Given the description of an element on the screen output the (x, y) to click on. 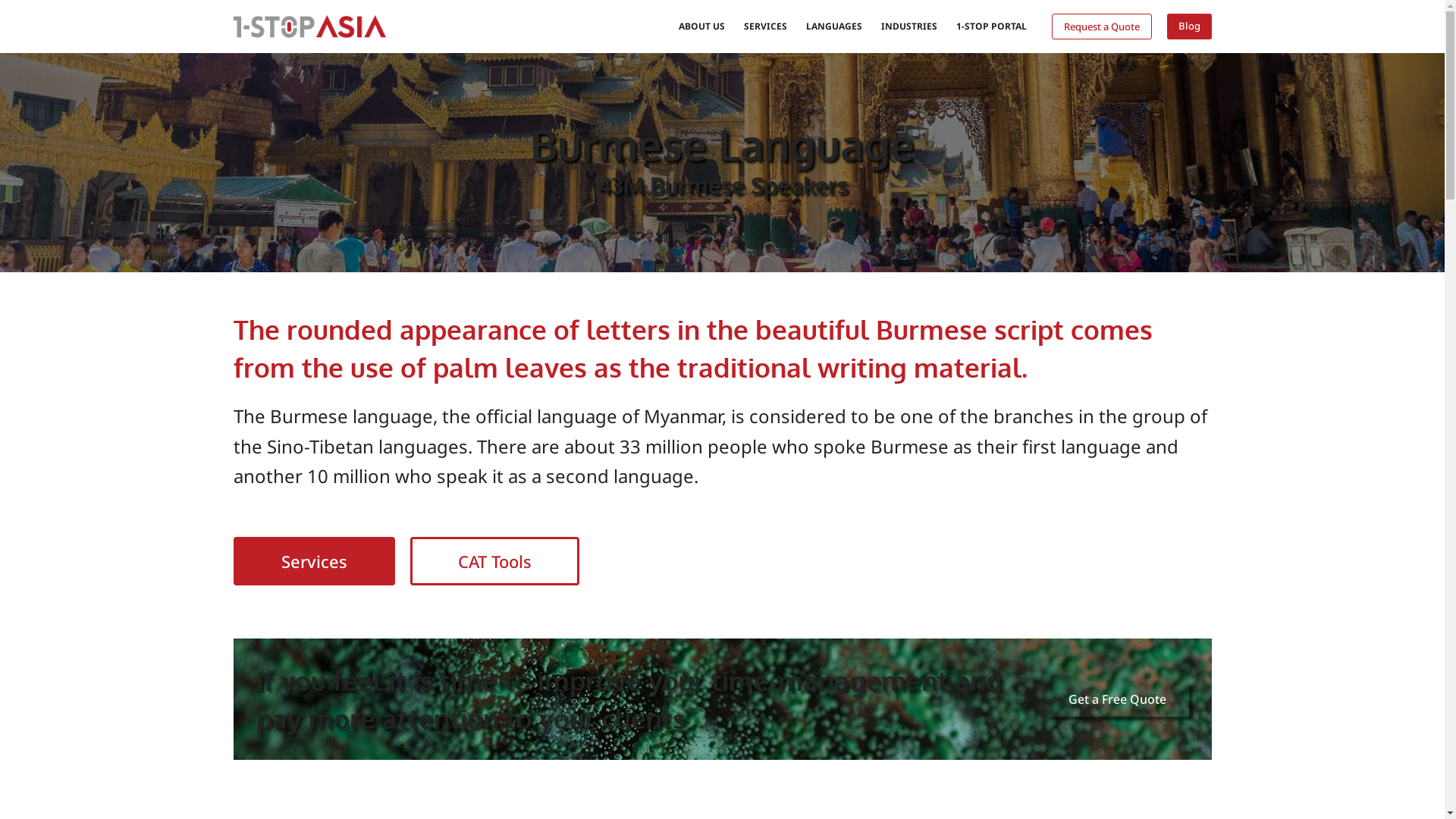
Get a Free Quote Element type: text (1116, 698)
ABOUT US Element type: text (701, 26)
Blog Element type: text (1188, 26)
LANGUAGES Element type: text (833, 26)
Request a Quote Element type: text (1101, 26)
SERVICES Element type: text (765, 26)
CAT Tools Element type: text (493, 560)
Skip to content Element type: text (15, 7)
Services Element type: text (314, 560)
INDUSTRIES Element type: text (909, 26)
1-STOP PORTAL Element type: text (990, 26)
